Given the description of an element on the screen output the (x, y) to click on. 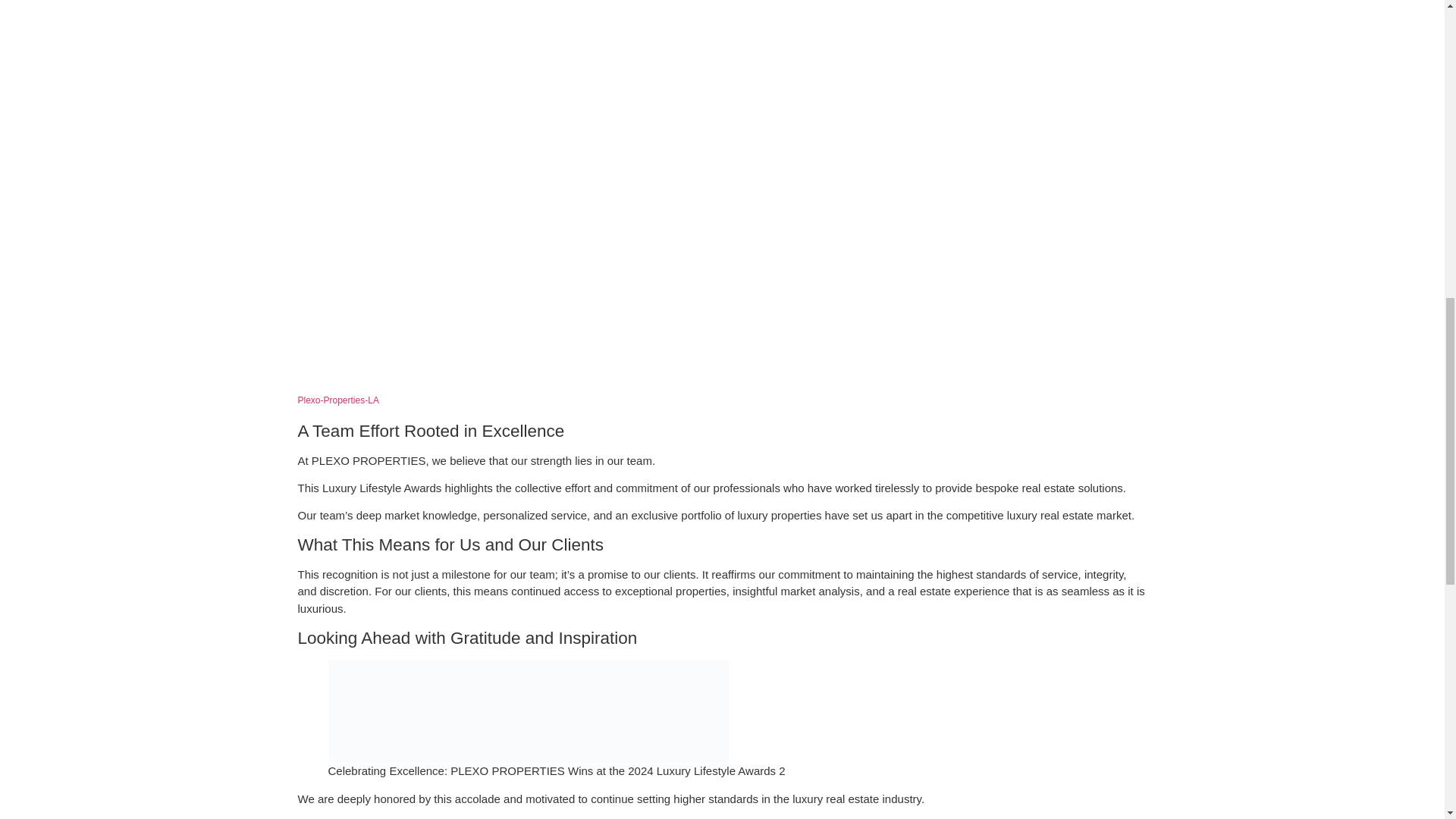
Plexo-Properties-LA (337, 399)
